Given the description of an element on the screen output the (x, y) to click on. 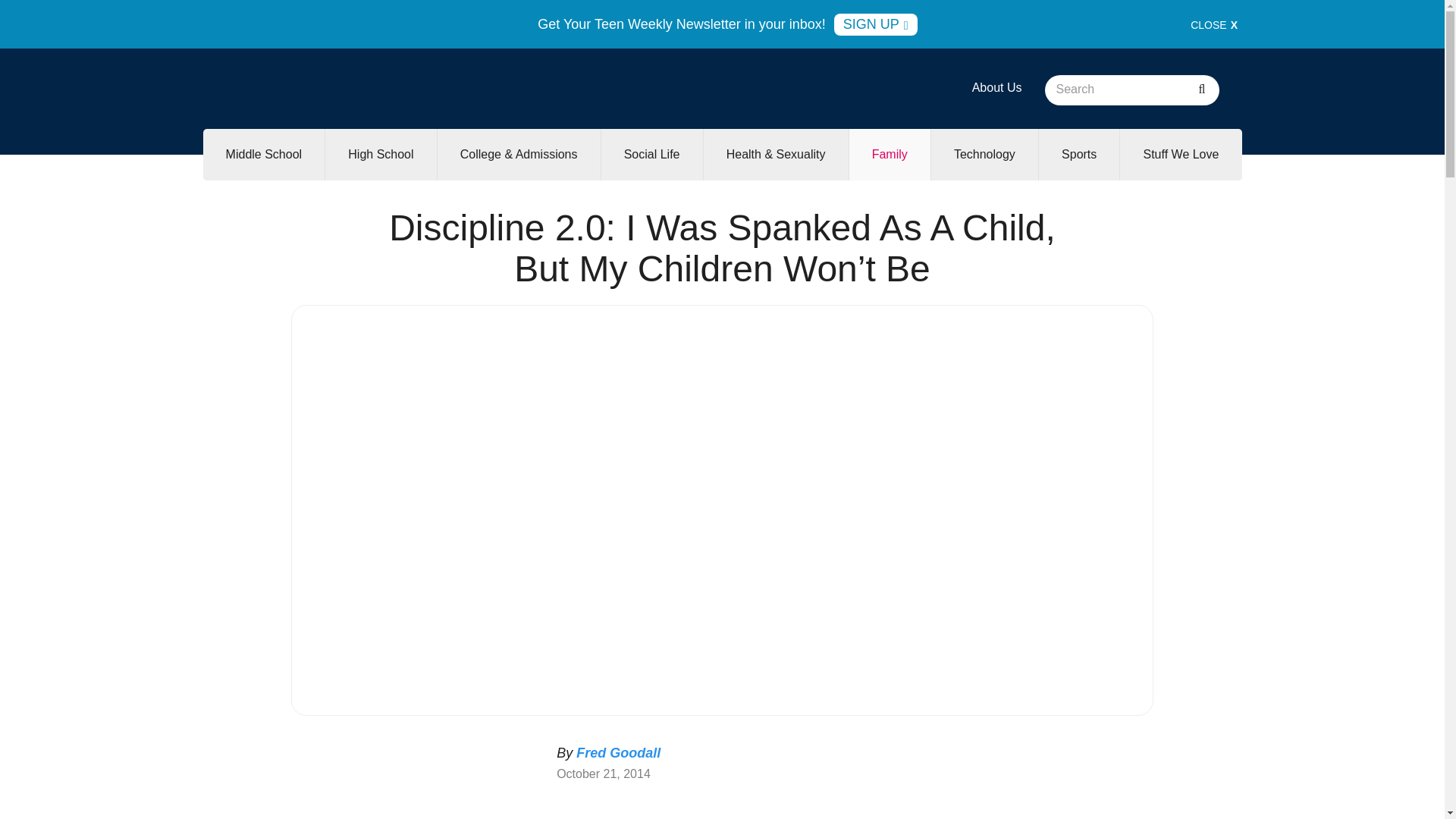
CLOSE (1214, 24)
Technology (984, 154)
Search (1201, 90)
Sports (1079, 154)
About Us (997, 87)
SIGN UP (875, 24)
Stuff We Love (1180, 154)
High School (379, 154)
Middle School (263, 154)
